Given the description of an element on the screen output the (x, y) to click on. 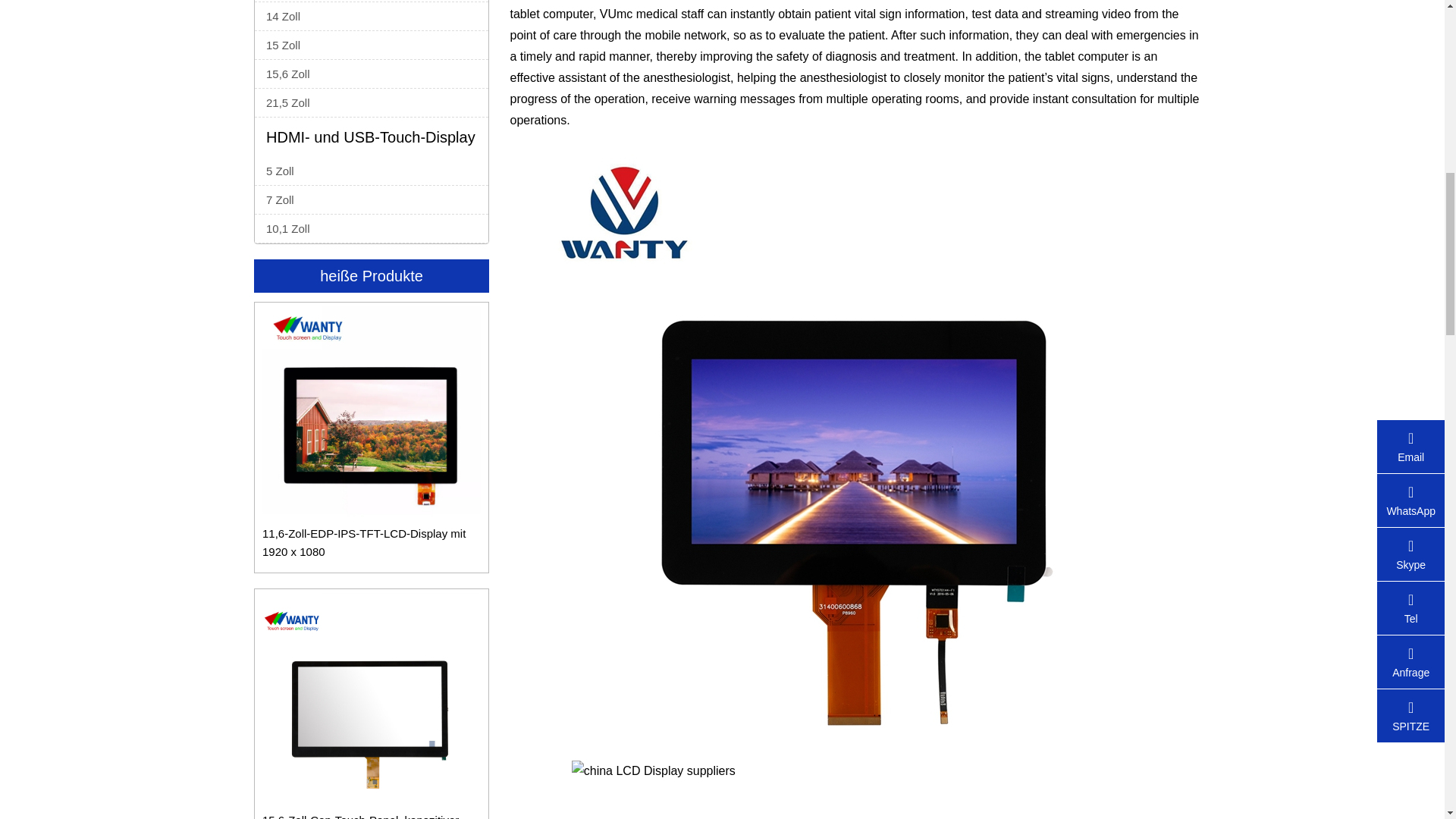
15,6-Zoll-Cap-Touch-Panel, kapazitiver Touchscreen (371, 705)
Application of LCD touch panel in industry (856, 789)
